Given the description of an element on the screen output the (x, y) to click on. 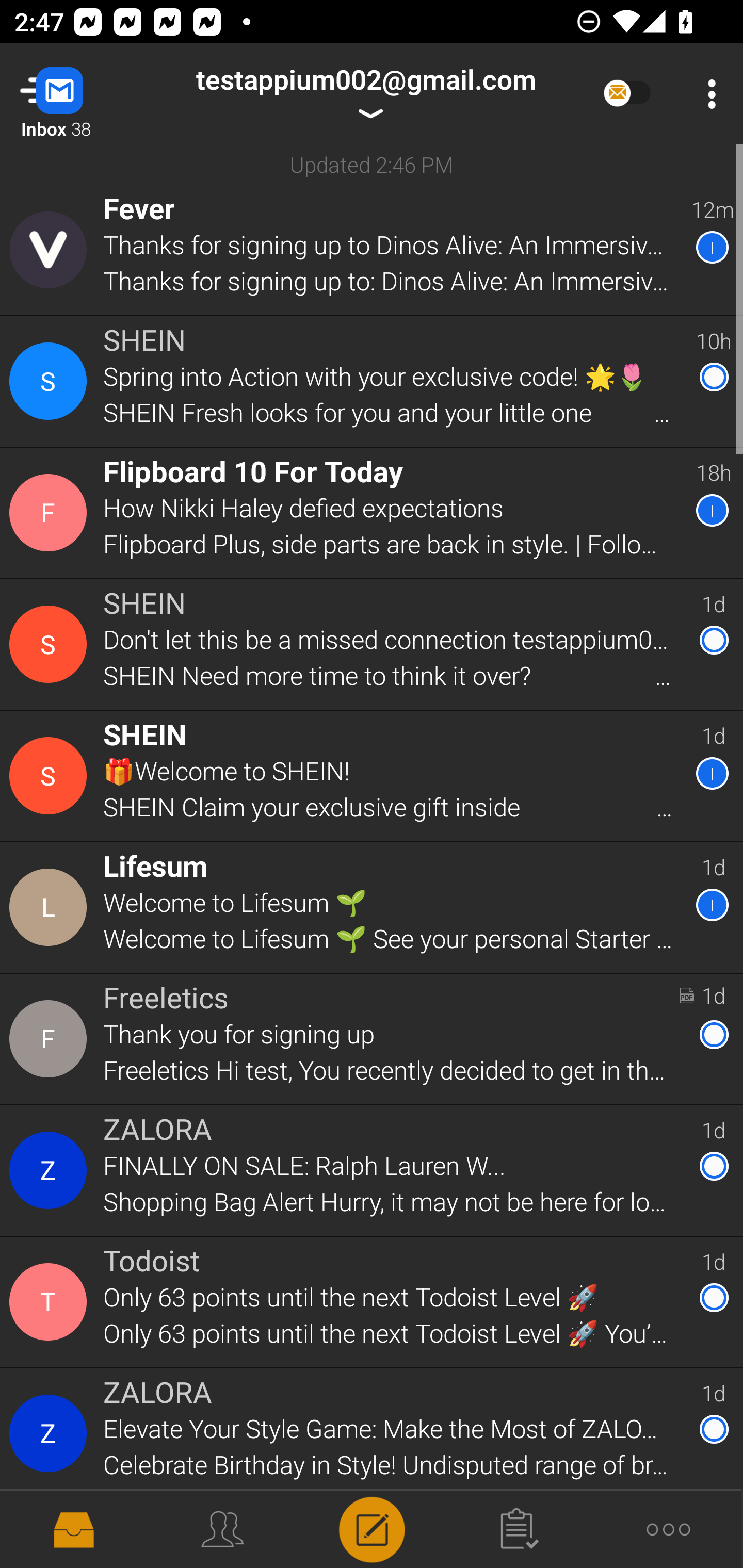
Navigate up (81, 93)
testappium002@gmail.com (365, 93)
More Options (706, 93)
Updated 2:46 PM (371, 164)
Contact Details (50, 250)
Contact Details (50, 381)
Contact Details (50, 513)
Contact Details (50, 644)
Contact Details (50, 776)
Contact Details (50, 907)
Contact Details (50, 1038)
Contact Details (50, 1170)
Contact Details (50, 1302)
Contact Details (50, 1433)
